Given the description of an element on the screen output the (x, y) to click on. 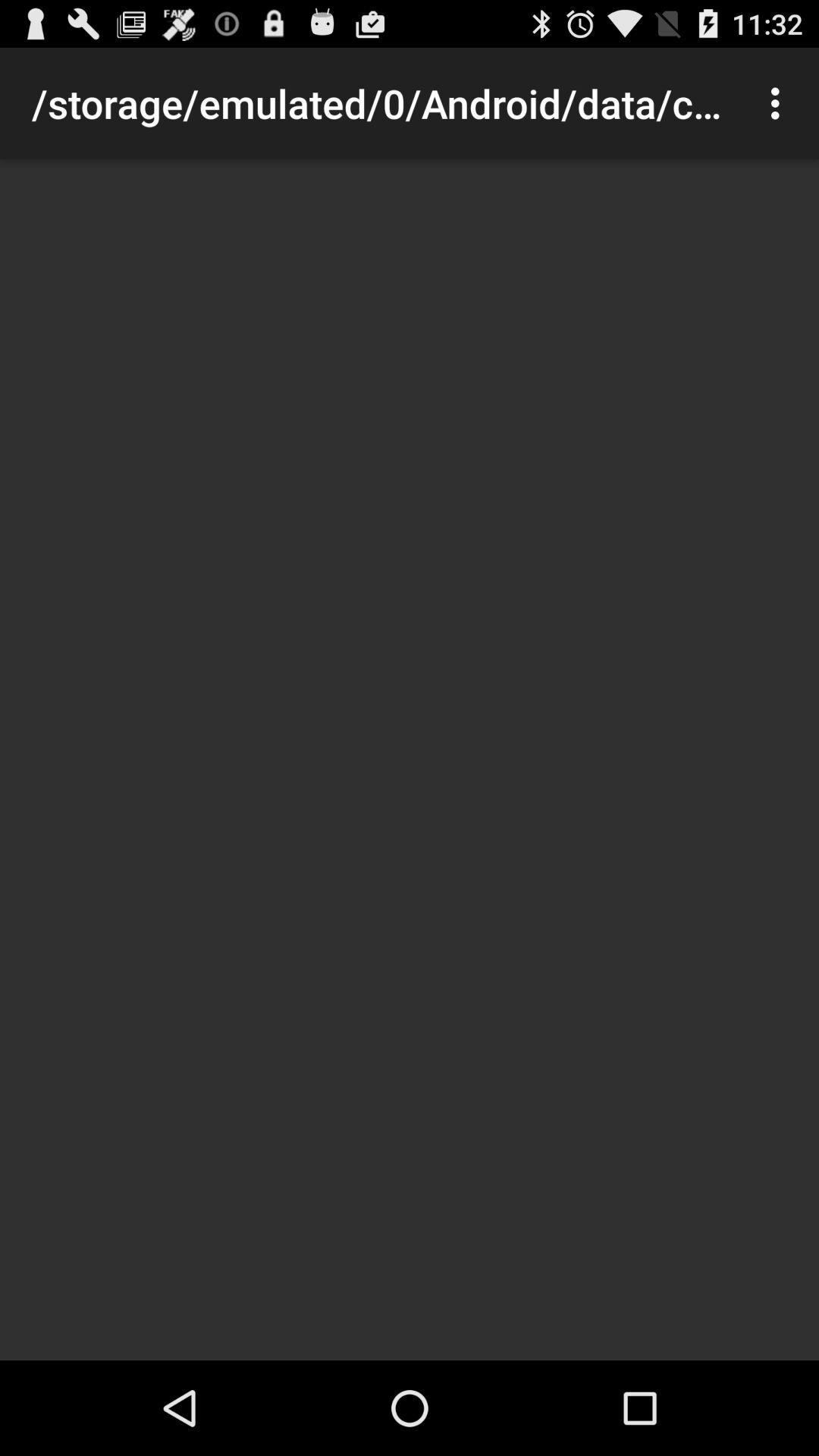
turn on item next to storage emulated 0 item (779, 103)
